Given the description of an element on the screen output the (x, y) to click on. 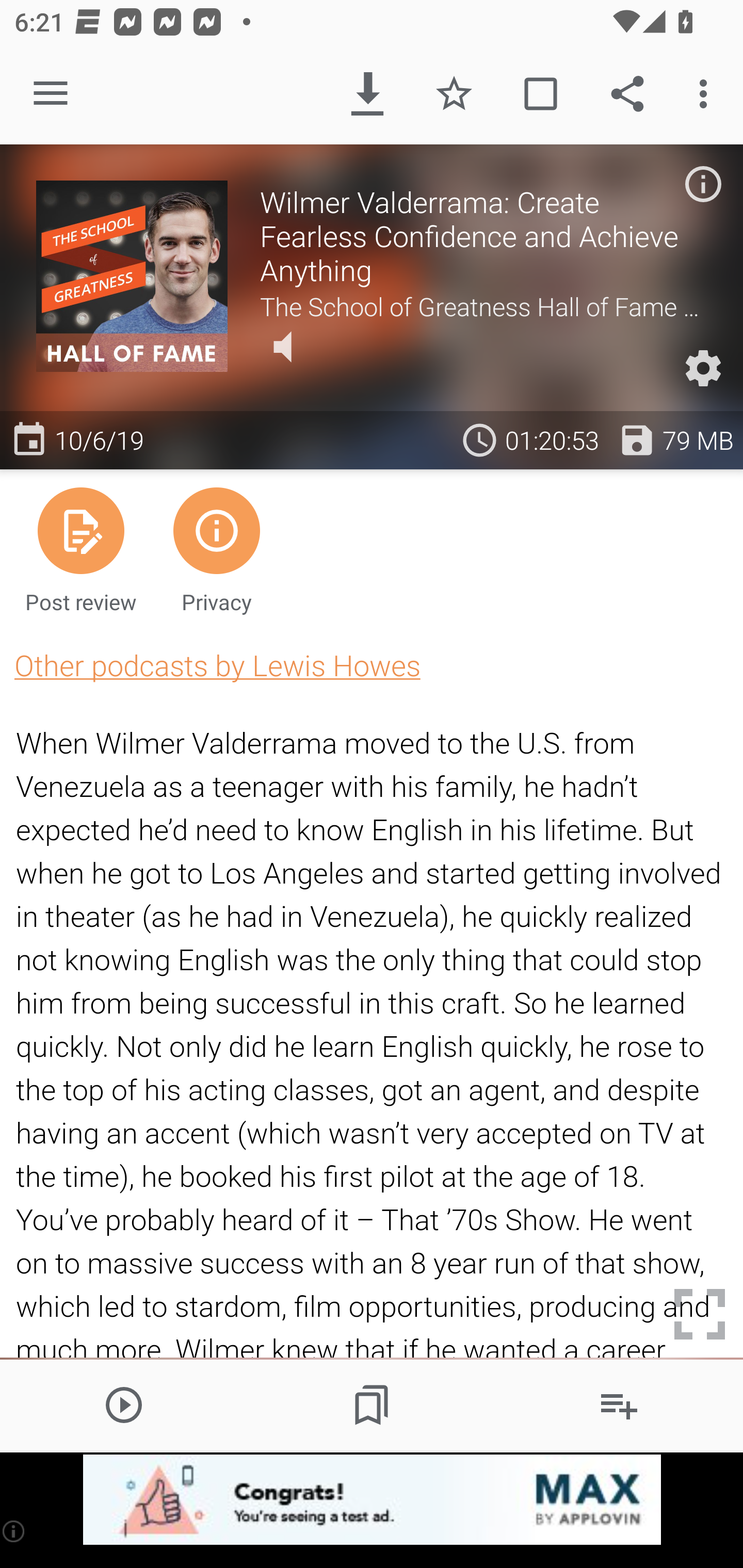
Open navigation sidebar (50, 93)
Download (366, 93)
Favorite (453, 93)
Mark played / unplayed (540, 93)
Share (626, 93)
More options (706, 93)
Podcast description (703, 184)
Custom Settings (703, 368)
Post review (81, 549)
Privacy (216, 549)
Other podcasts by Lewis Howes (217, 665)
Toggle full screen mode (699, 1314)
Play (123, 1404)
Chapters / Bookmarks (371, 1404)
Add to Playlist (619, 1404)
app-monetization (371, 1500)
(i) (14, 1531)
